Given the description of an element on the screen output the (x, y) to click on. 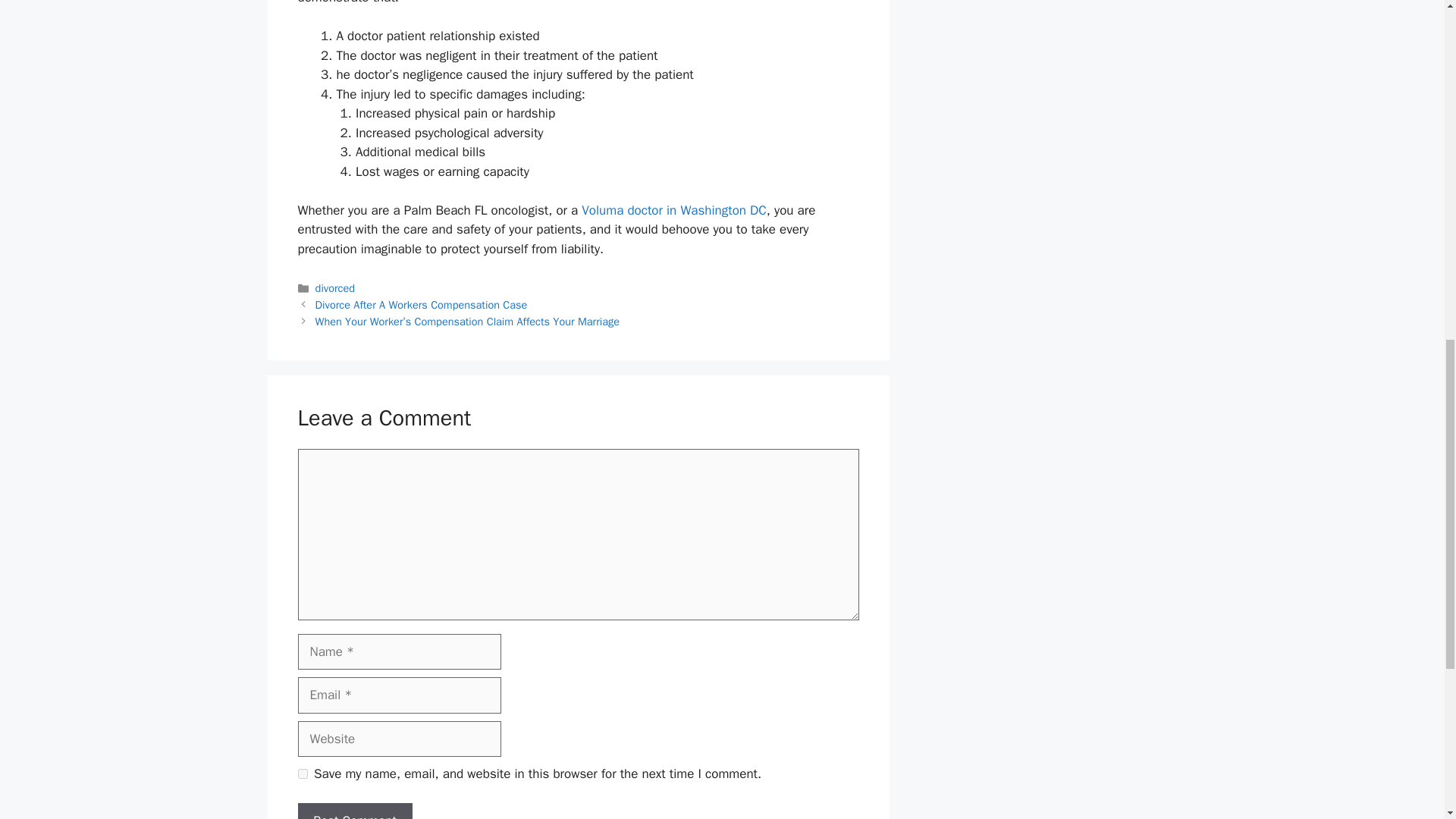
Post Comment (354, 811)
Voluma doctor in Washington DC (672, 210)
Post Comment (354, 811)
yes (302, 773)
divorced (335, 287)
Divorce After A Workers Compensation Case (421, 305)
